Given the description of an element on the screen output the (x, y) to click on. 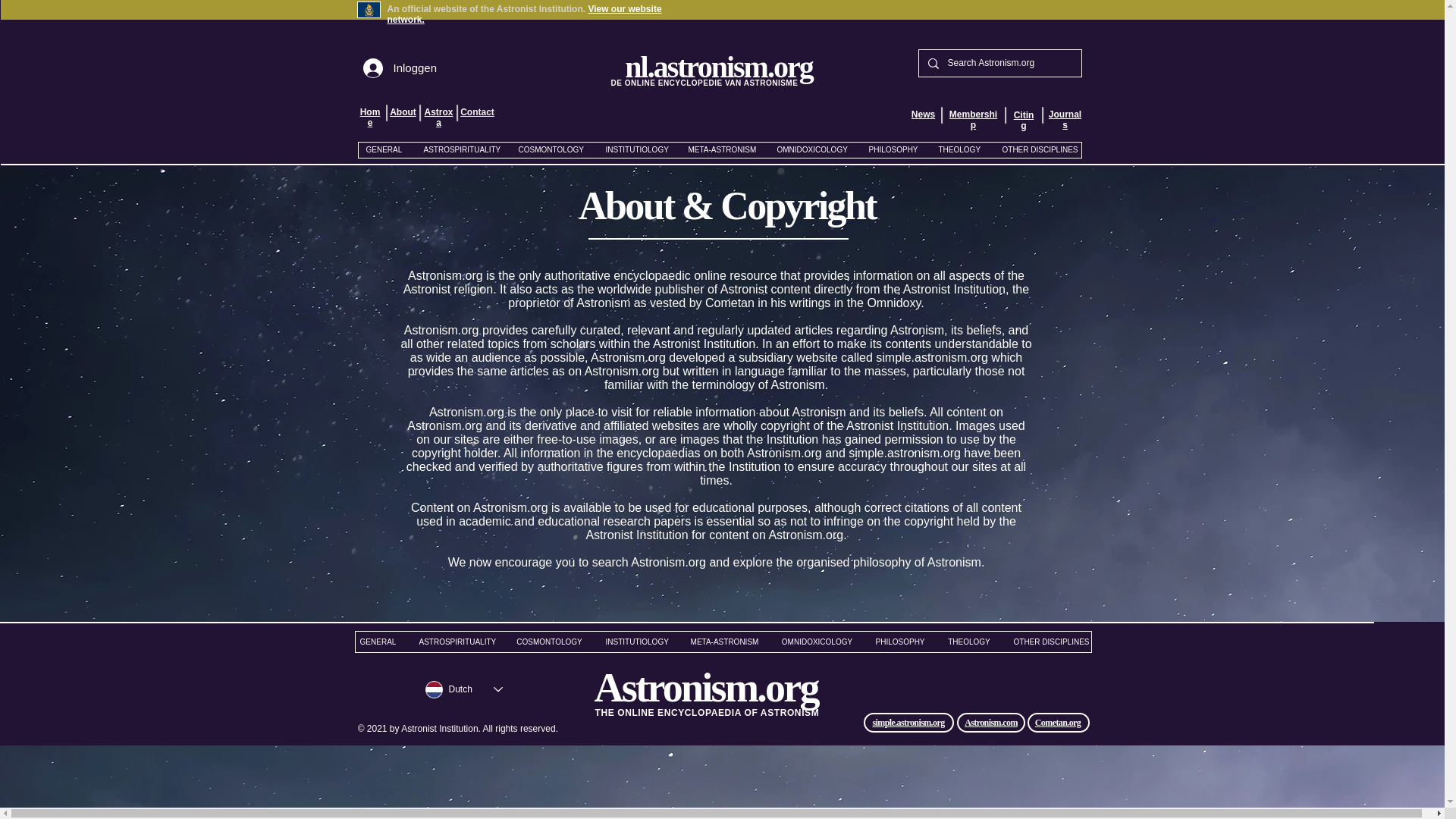
INSTITUTIOLOGY (635, 149)
Membership (973, 119)
About (403, 112)
View our website network. (524, 14)
META-ASTRONISM (721, 149)
Journals (1064, 119)
GENERAL (383, 149)
News (922, 113)
Home (369, 117)
Astroxa (437, 117)
